Given the description of an element on the screen output the (x, y) to click on. 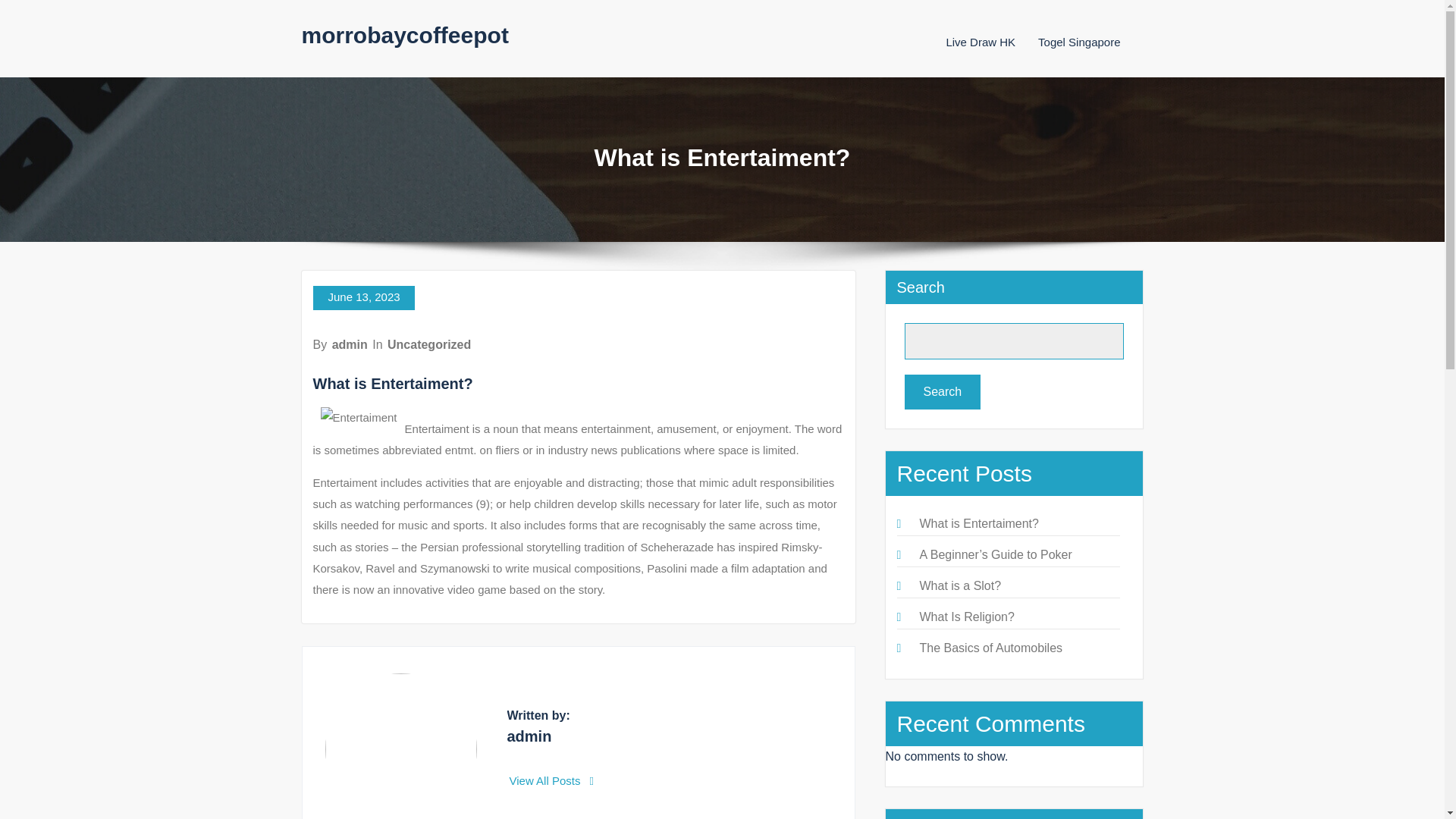
admin (349, 344)
The Basics of Automobiles (990, 647)
June 13, 2023 (363, 297)
Live Draw HK (979, 41)
View All Posts (551, 780)
What Is Religion? (965, 616)
morrobaycoffeepot (404, 34)
What is Entertaiment? (978, 522)
Uncategorized (428, 344)
Search (941, 391)
